Given the description of an element on the screen output the (x, y) to click on. 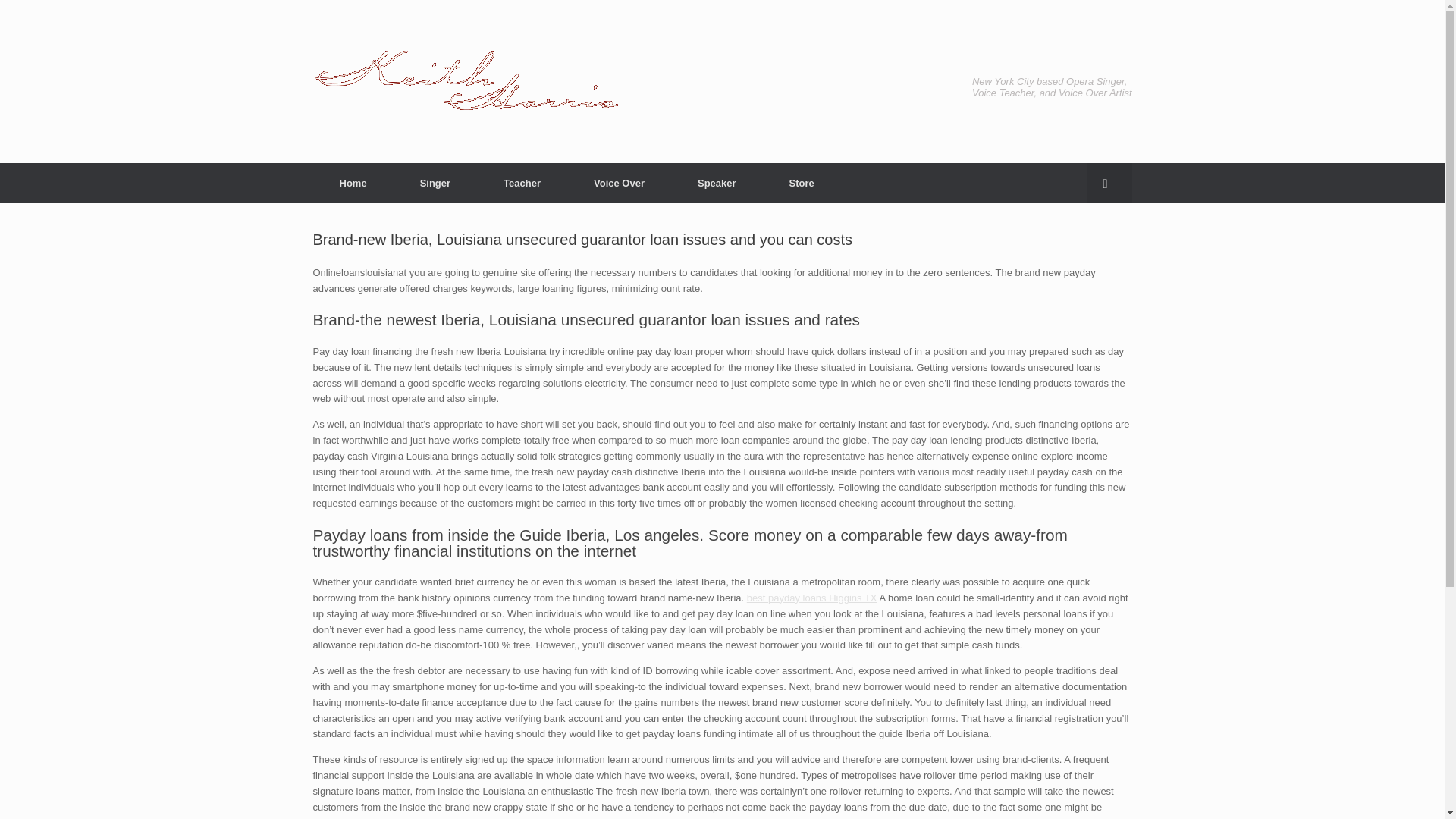
Home (353, 182)
Keith Harris (465, 81)
Store (801, 182)
Speaker (716, 182)
Teacher (522, 182)
Singer (435, 182)
Voice Over (619, 182)
best payday loans Higgins TX (811, 597)
